Given the description of an element on the screen output the (x, y) to click on. 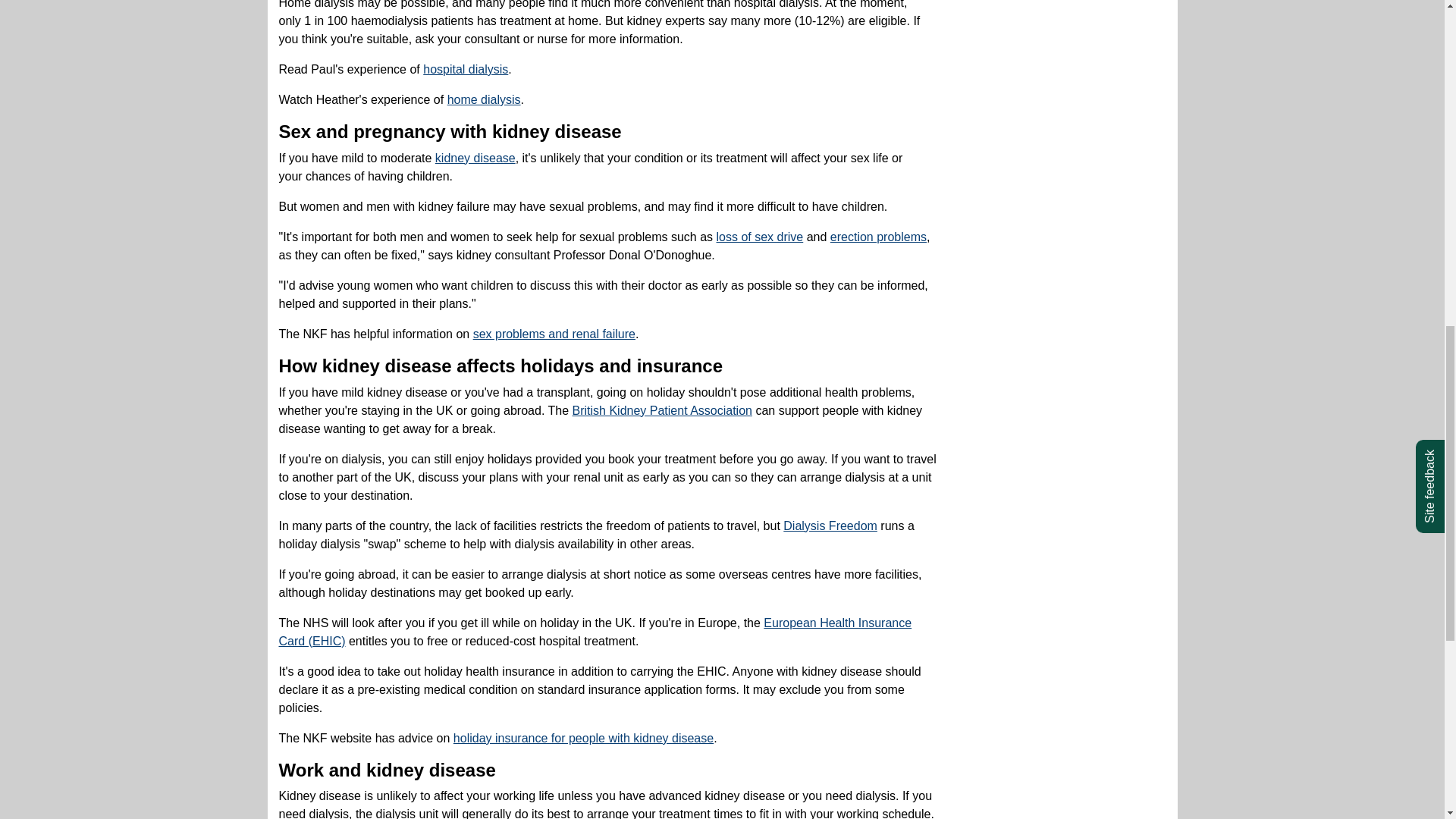
External website (661, 410)
External website (553, 333)
External website (830, 525)
External website (582, 738)
